Given the description of an element on the screen output the (x, y) to click on. 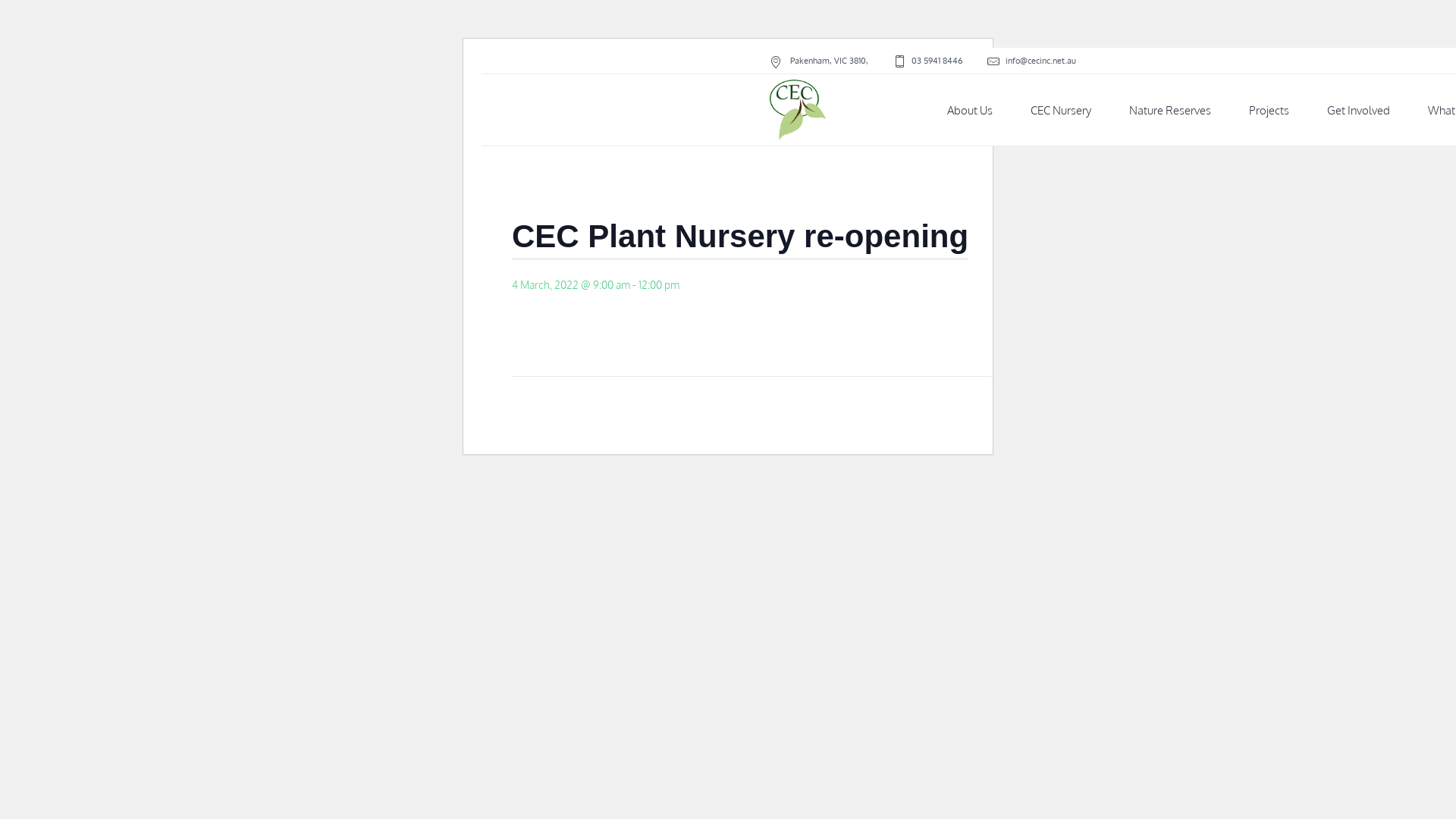
Get Involved Element type: text (1358, 110)
info@cecinc.net.au Element type: text (1040, 59)
Nature Reserves Element type: text (1170, 110)
CEC Nursery Element type: text (1060, 110)
About Us Element type: text (969, 110)
Projects Element type: text (1269, 110)
